Given the description of an element on the screen output the (x, y) to click on. 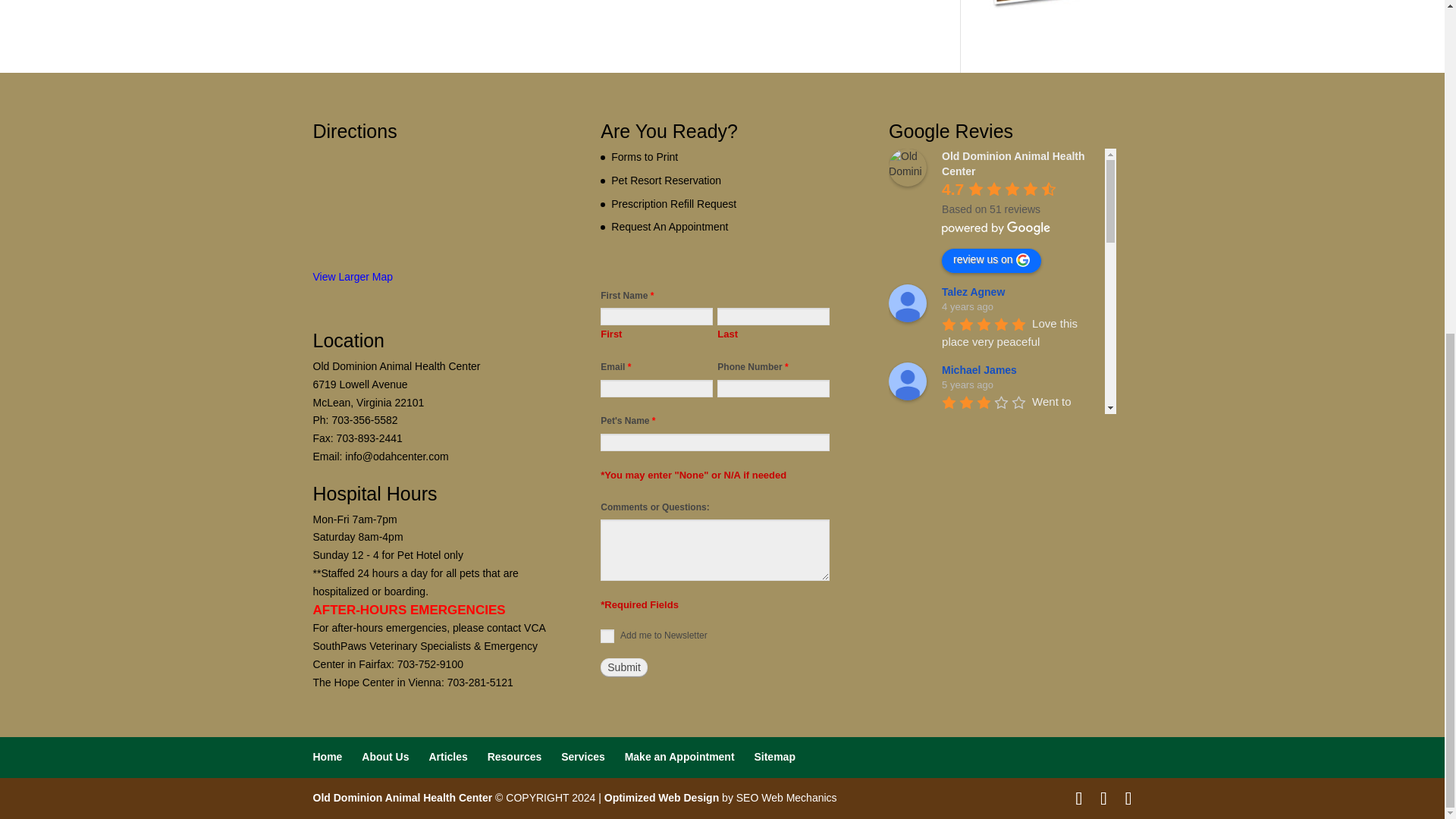
Add me to Newsletter (606, 635)
Submit (623, 667)
Michael James (907, 381)
Emma Q (907, 779)
Scott McDermond (907, 628)
Talez Agnew (907, 303)
powered by Google (996, 228)
Old Dominion Animal Health Center (907, 167)
Ben Gump (907, 532)
